Given the description of an element on the screen output the (x, y) to click on. 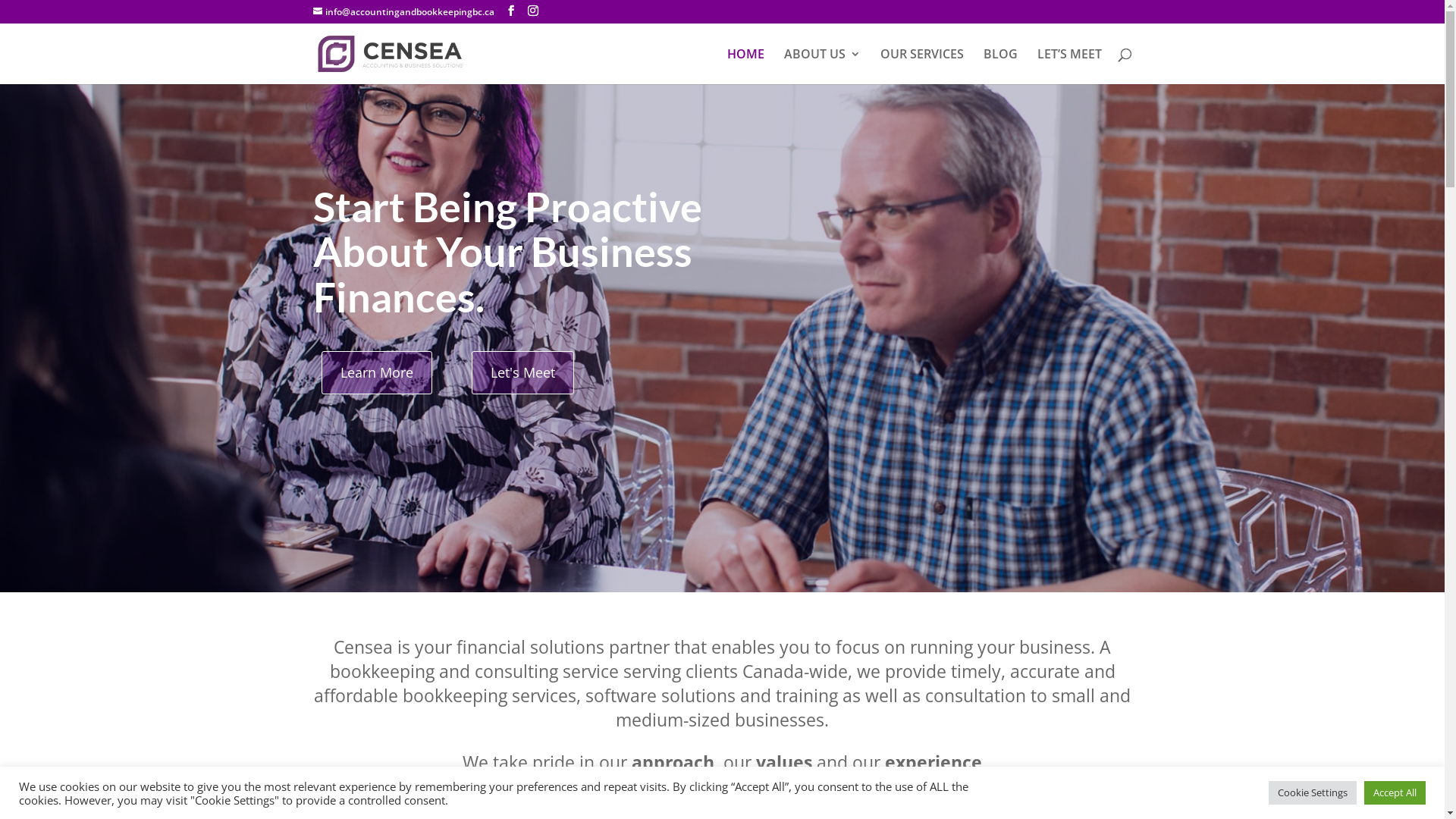
ABOUT US Element type: text (822, 66)
BLOG Element type: text (999, 66)
OUR SERVICES Element type: text (921, 66)
Learn More Element type: text (376, 372)
Cookie Settings Element type: text (1312, 792)
info@accountingandbookkeepingbc.ca Element type: text (402, 11)
HOME Element type: text (744, 66)
Accept All Element type: text (1394, 792)
Let's Meet Element type: text (522, 372)
